Given the description of an element on the screen output the (x, y) to click on. 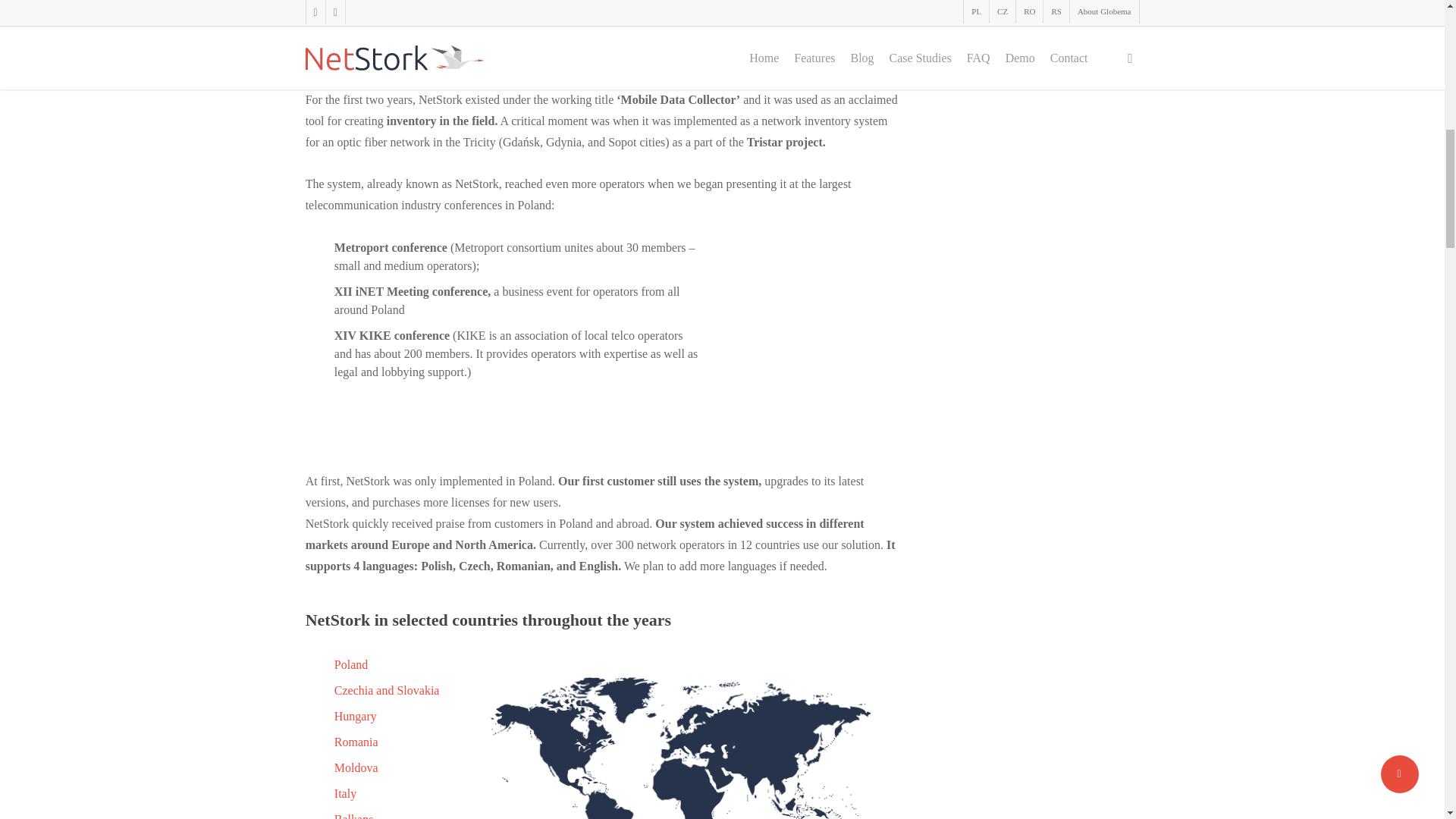
Italy (345, 793)
Hungary (355, 716)
Czechia and Slovakia (386, 689)
Balkans (354, 816)
Moldova (356, 767)
Romania (356, 741)
Poland (351, 664)
